Given the description of an element on the screen output the (x, y) to click on. 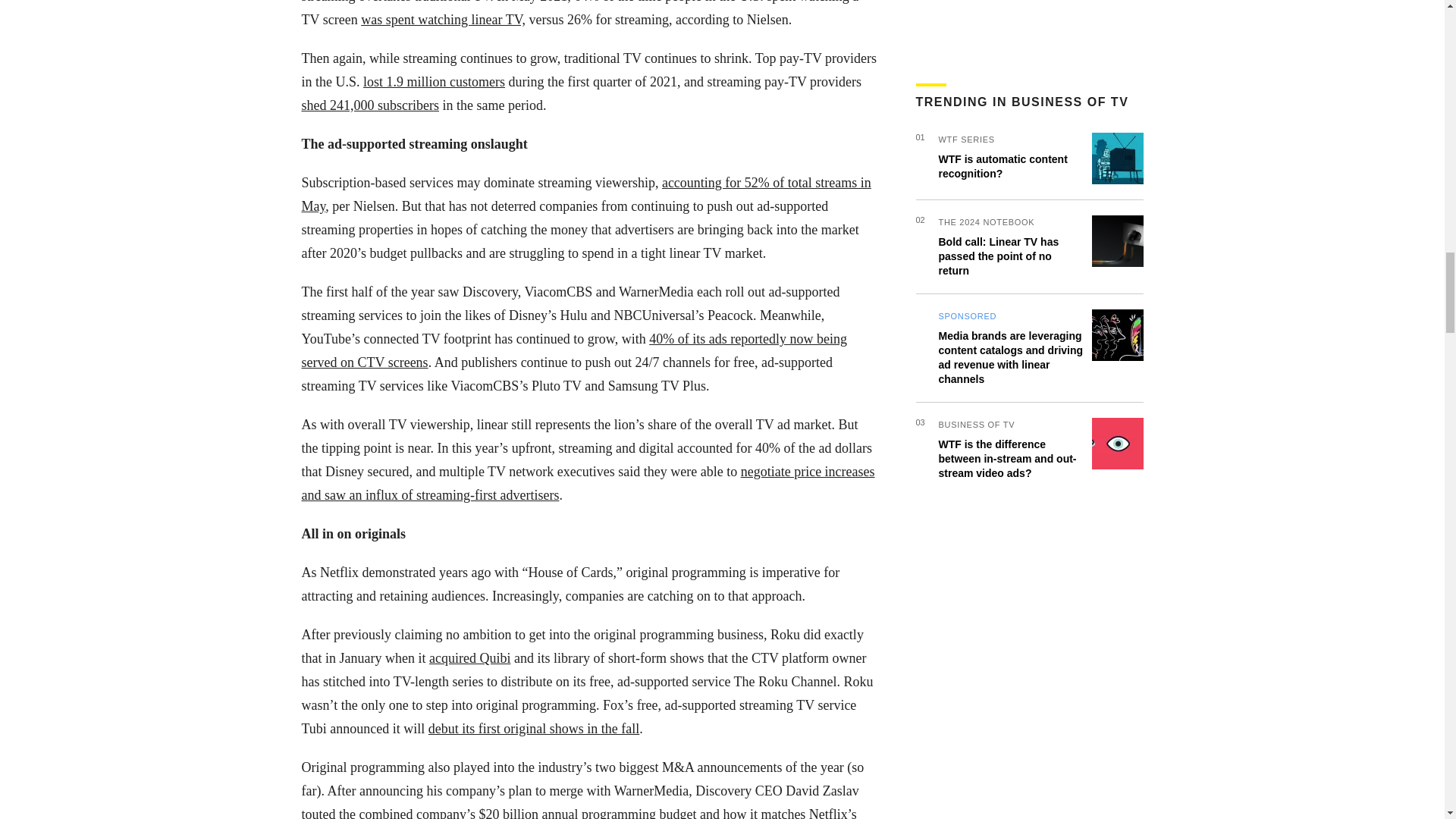
Bold call: Linear TV has passed the point of no return (999, 124)
WTF is automatic content recognition? (1003, 35)
